Given the description of an element on the screen output the (x, y) to click on. 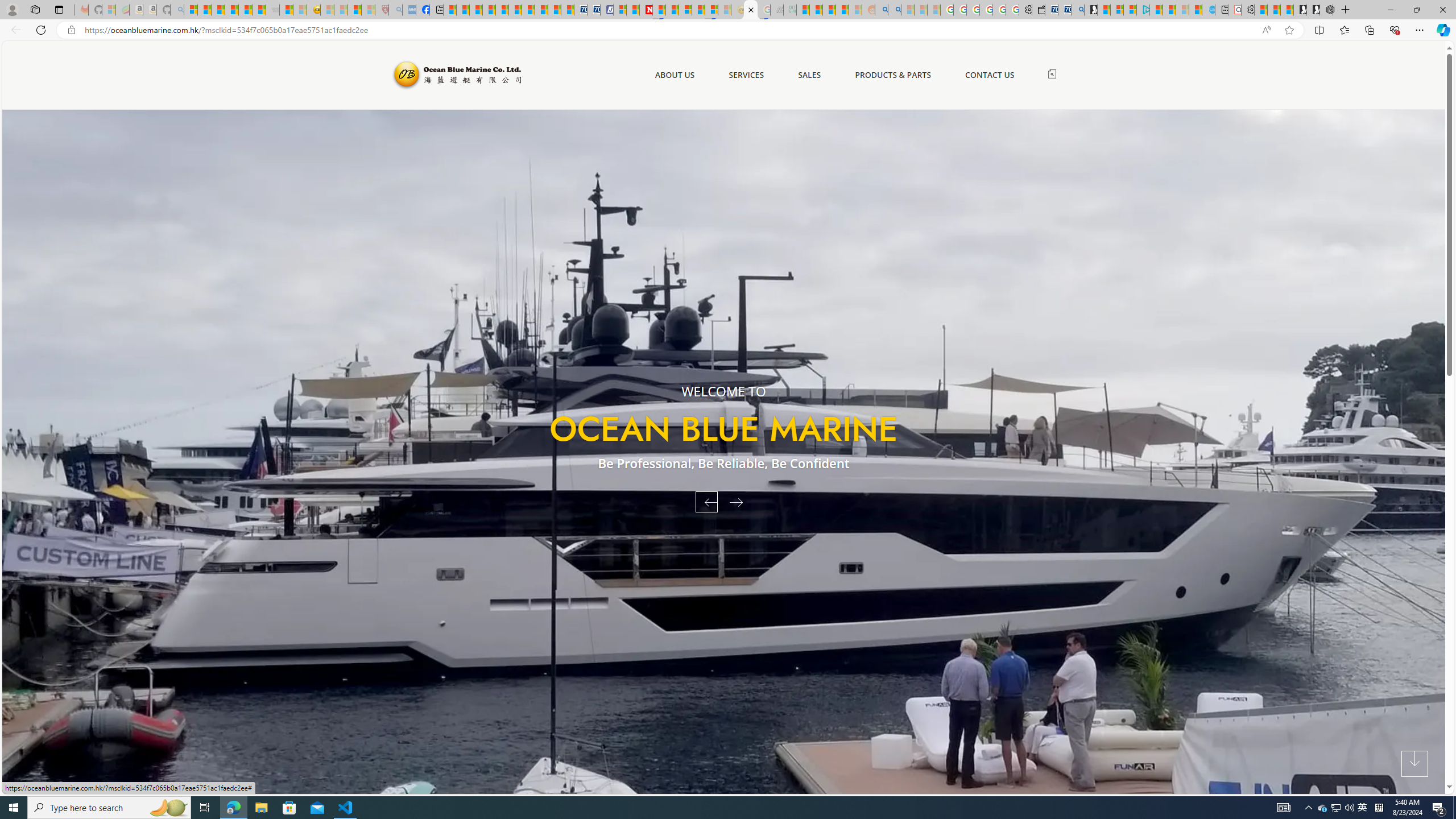
SALES (809, 75)
Previous Slide (706, 501)
Latest Politics News & Archive | Newsweek.com (646, 9)
